Given the description of an element on the screen output the (x, y) to click on. 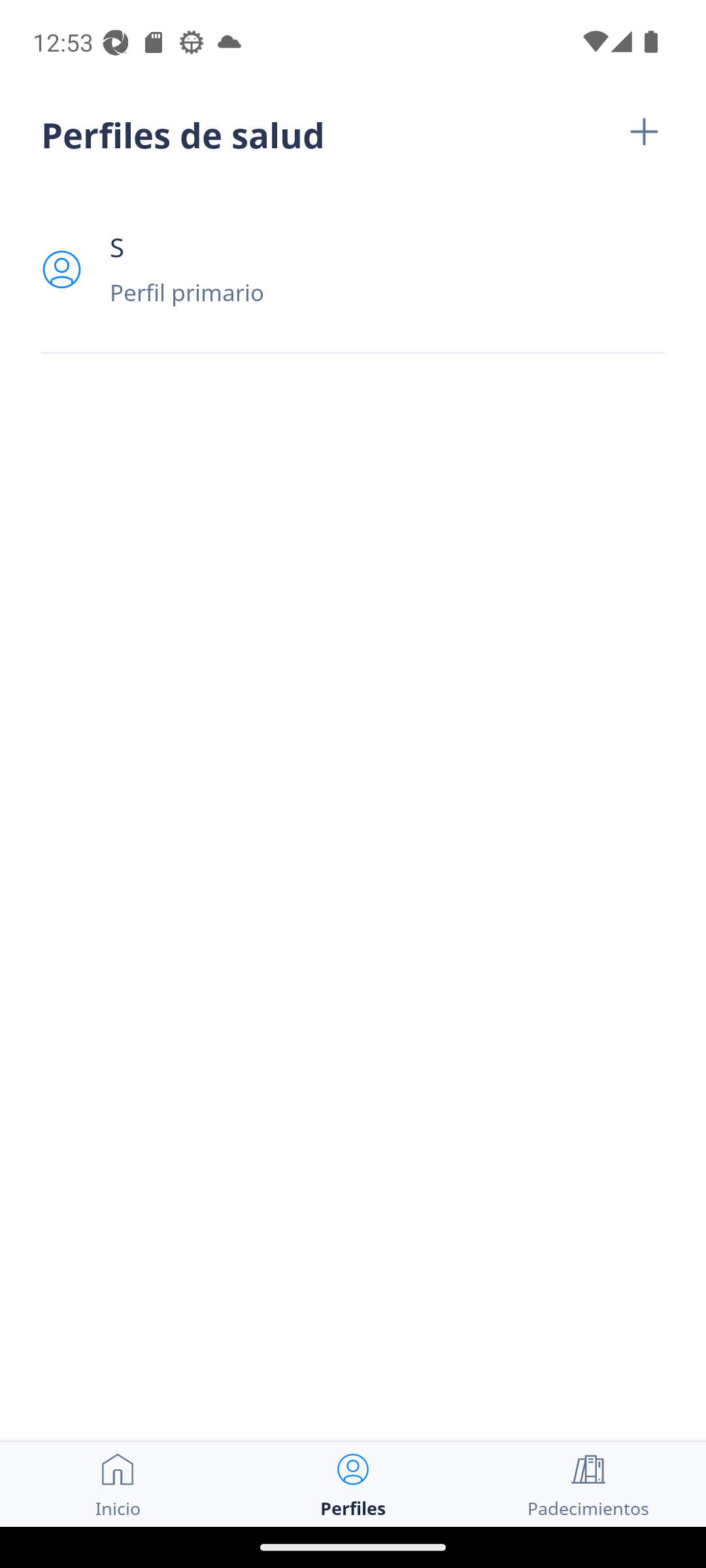
S Perfil primario (352, 269)
Inicio (117, 1484)
Perfiles (352, 1484)
Padecimientos (588, 1484)
